Given the description of an element on the screen output the (x, y) to click on. 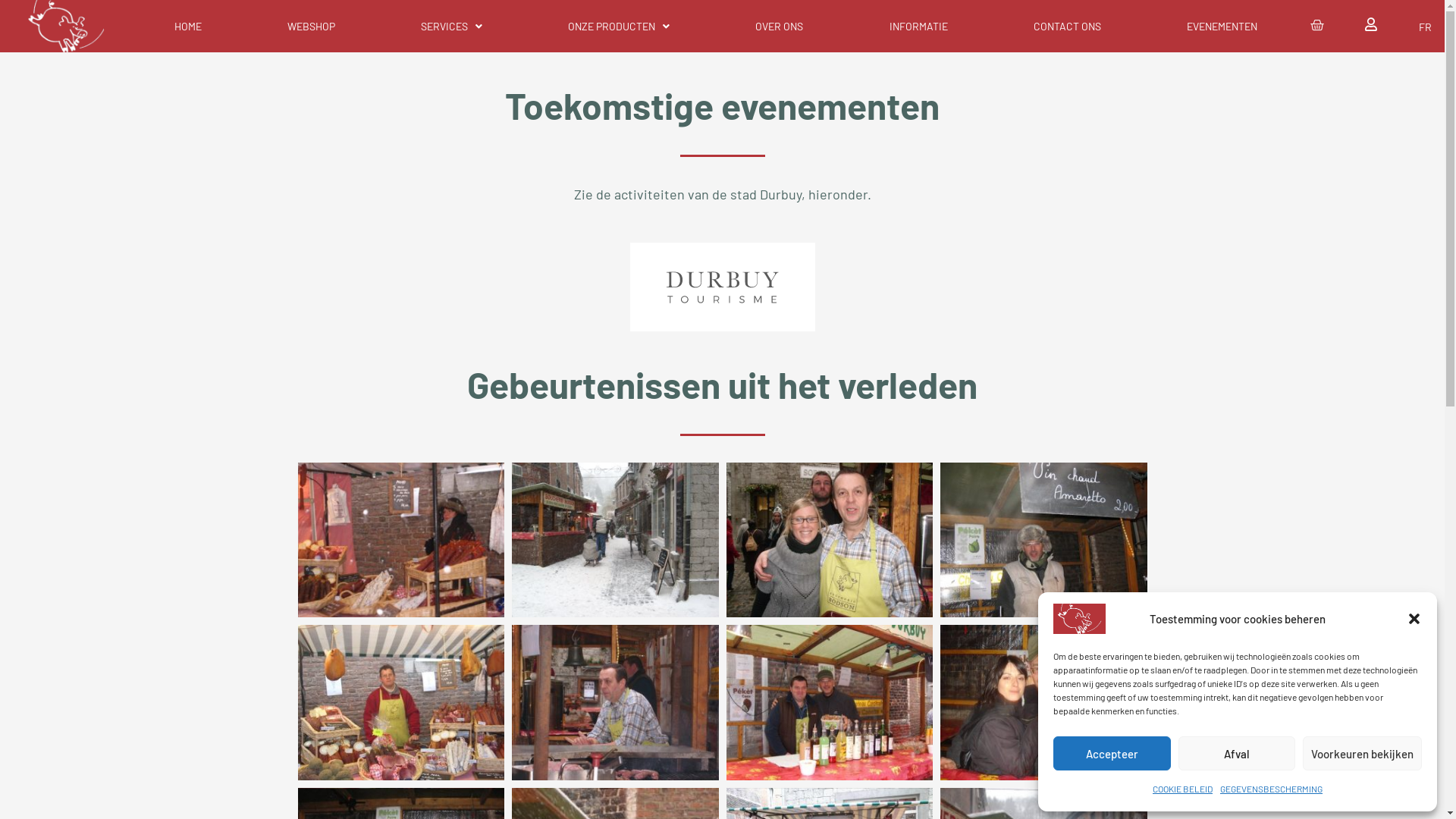
OVER ONS Element type: text (779, 25)
ONZE PRODUCTEN Element type: text (618, 25)
FR Element type: text (1421, 25)
GEGEVENSBESCHERMING Element type: text (1271, 789)
Afval Element type: text (1236, 753)
Voorkeuren bekijken Element type: text (1361, 753)
EVENEMENTEN Element type: text (1221, 25)
SERVICES Element type: text (451, 25)
COOKIE BELEID Element type: text (1182, 789)
INFORMATIE Element type: text (918, 25)
HOME Element type: text (187, 25)
CONTACT ONS Element type: text (1066, 25)
WEBSHOP Element type: text (311, 25)
Accepteer Element type: text (1111, 753)
